Given the description of an element on the screen output the (x, y) to click on. 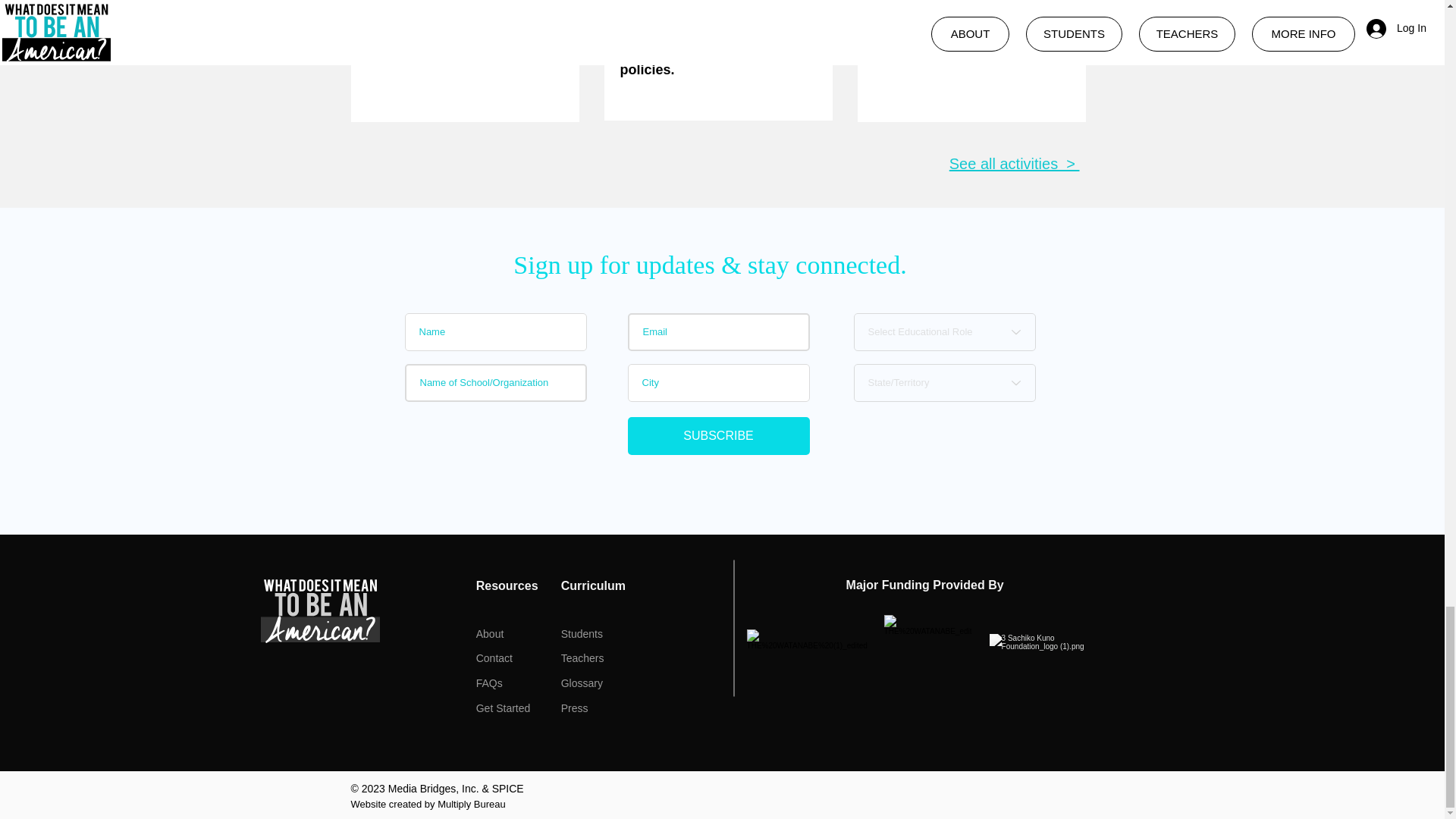
. (713, 55)
. (459, 57)
. (966, 57)
